Given the description of an element on the screen output the (x, y) to click on. 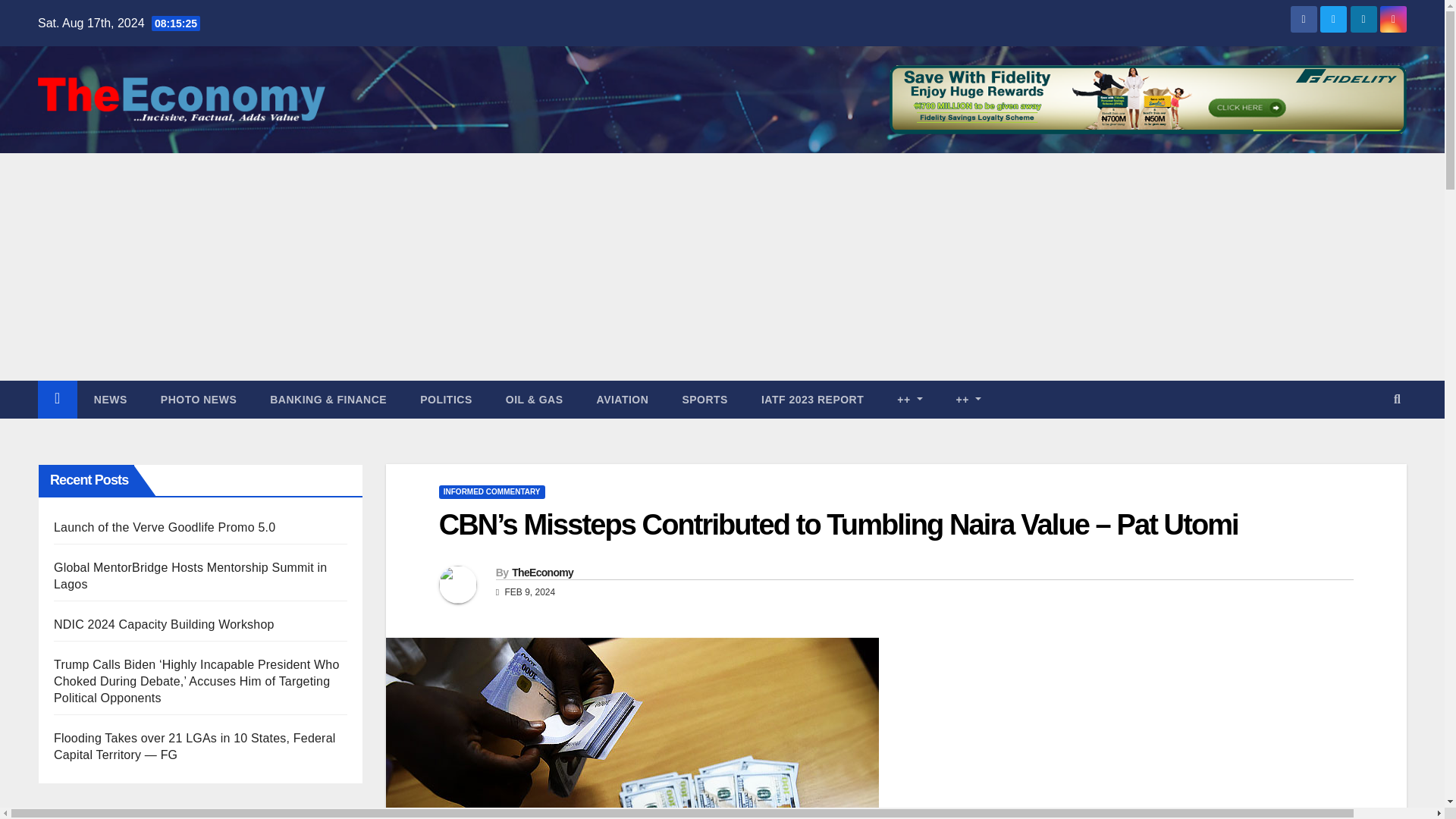
SPORTS (704, 399)
NEWS (110, 399)
News (110, 399)
Photo News (198, 399)
PHOTO NEWS (198, 399)
Politics (446, 399)
Aviation (622, 399)
POLITICS (446, 399)
IATF 2023 REPORT (812, 399)
